Given the description of an element on the screen output the (x, y) to click on. 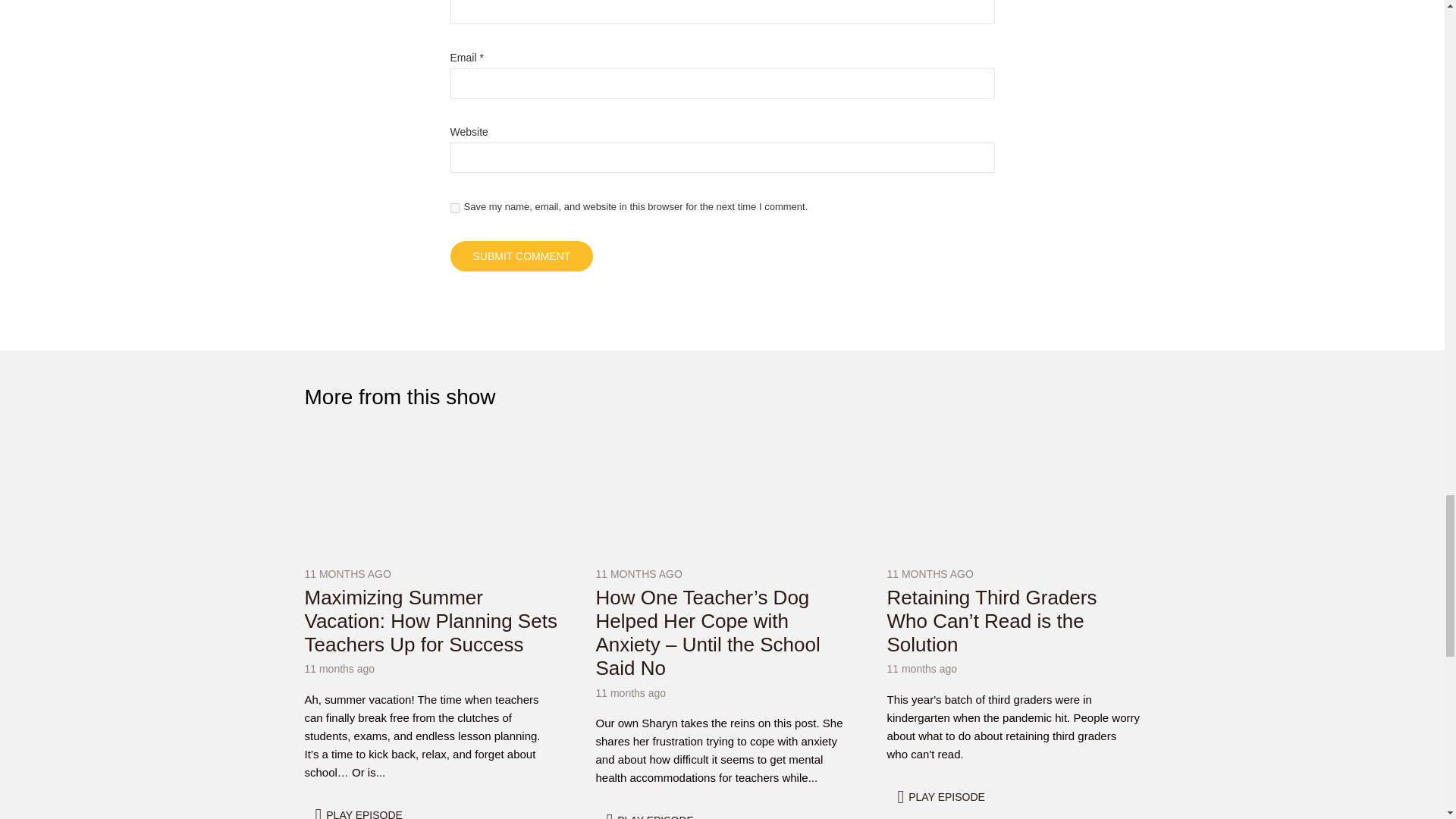
Submit Comment (521, 255)
Submit Comment (521, 255)
PLAY EPISODE (360, 809)
